Given the description of an element on the screen output the (x, y) to click on. 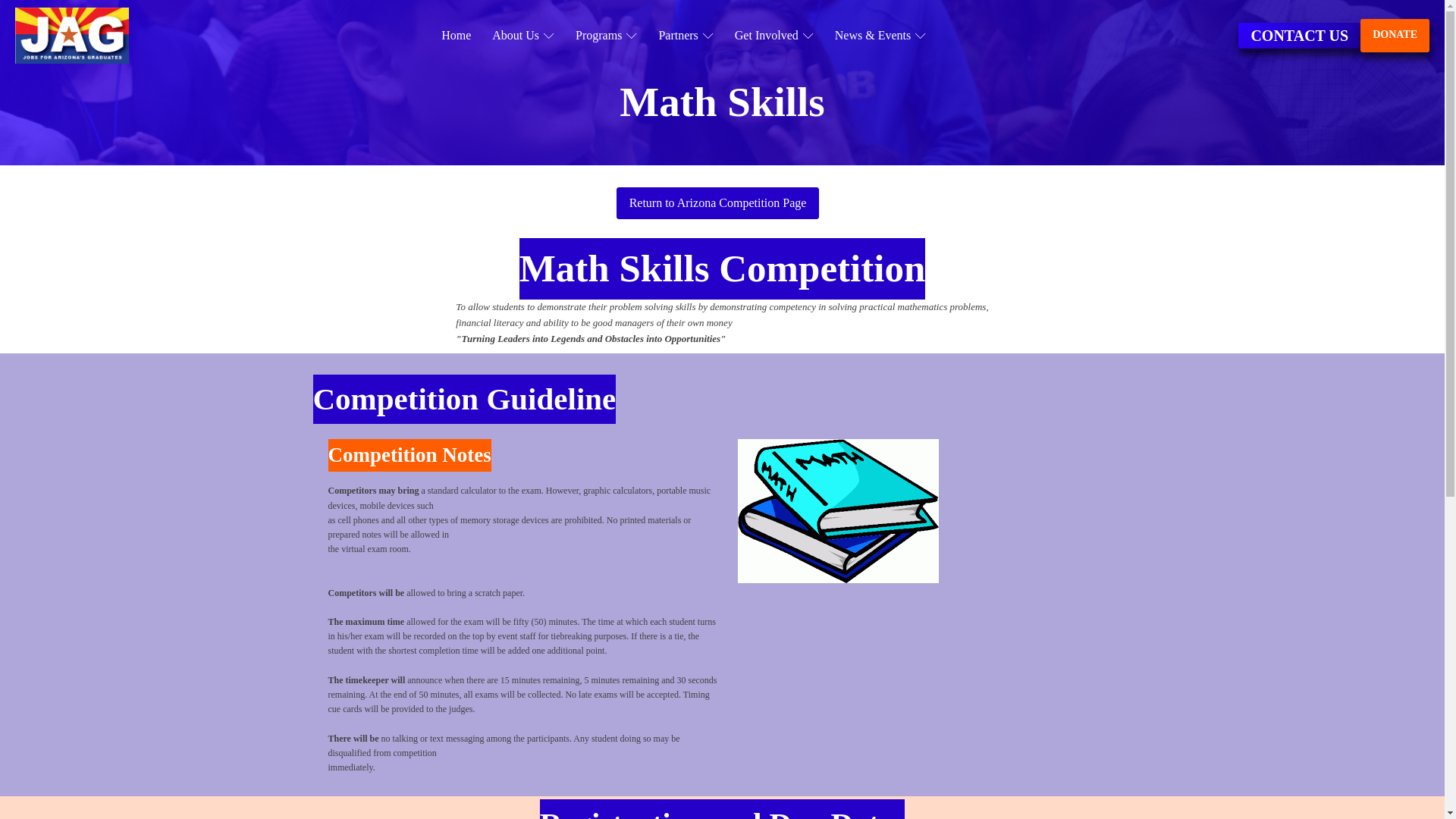
Programs (606, 35)
Partners (685, 35)
About Us (523, 35)
DONATE (1394, 35)
Get Involved (773, 35)
Home (456, 35)
CONTACT US (1299, 35)
Return to Arizona Competition Page (717, 203)
